Given the description of an element on the screen output the (x, y) to click on. 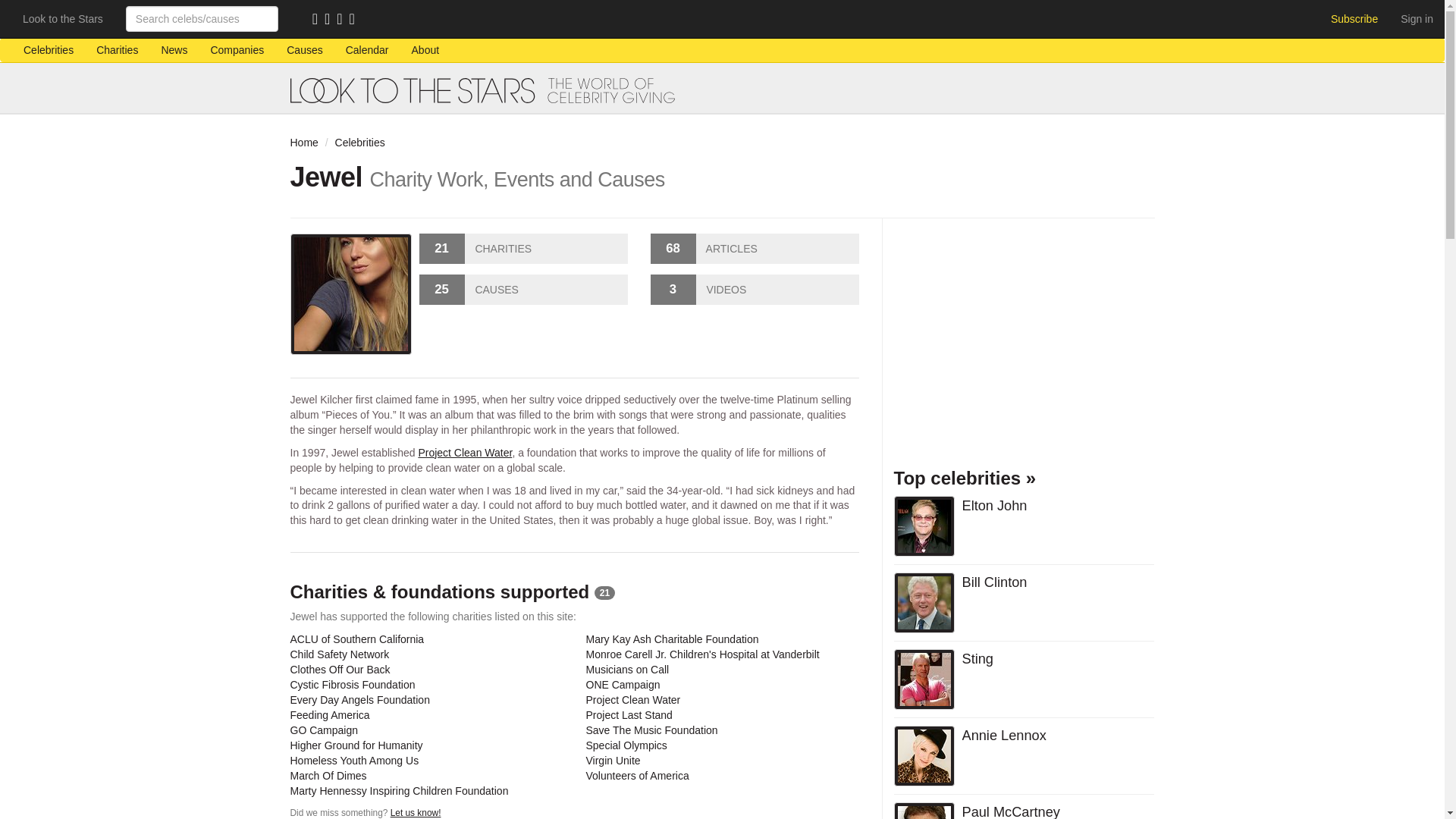
Project Clean Water (464, 452)
2396 charities with celebrity supporters (116, 49)
News (173, 49)
Child Safety Network (338, 654)
Charitable areas of interest (304, 49)
Cystic Fibrosis Foundation (351, 684)
Companies (236, 49)
Clothes Off Our Back (339, 669)
Mailing list (330, 20)
Calendar (367, 49)
Celebrities (47, 49)
Charities (116, 49)
ACLU of Southern California (356, 639)
Causes (304, 49)
4645 celebrities supporting charities (47, 49)
